Given the description of an element on the screen output the (x, y) to click on. 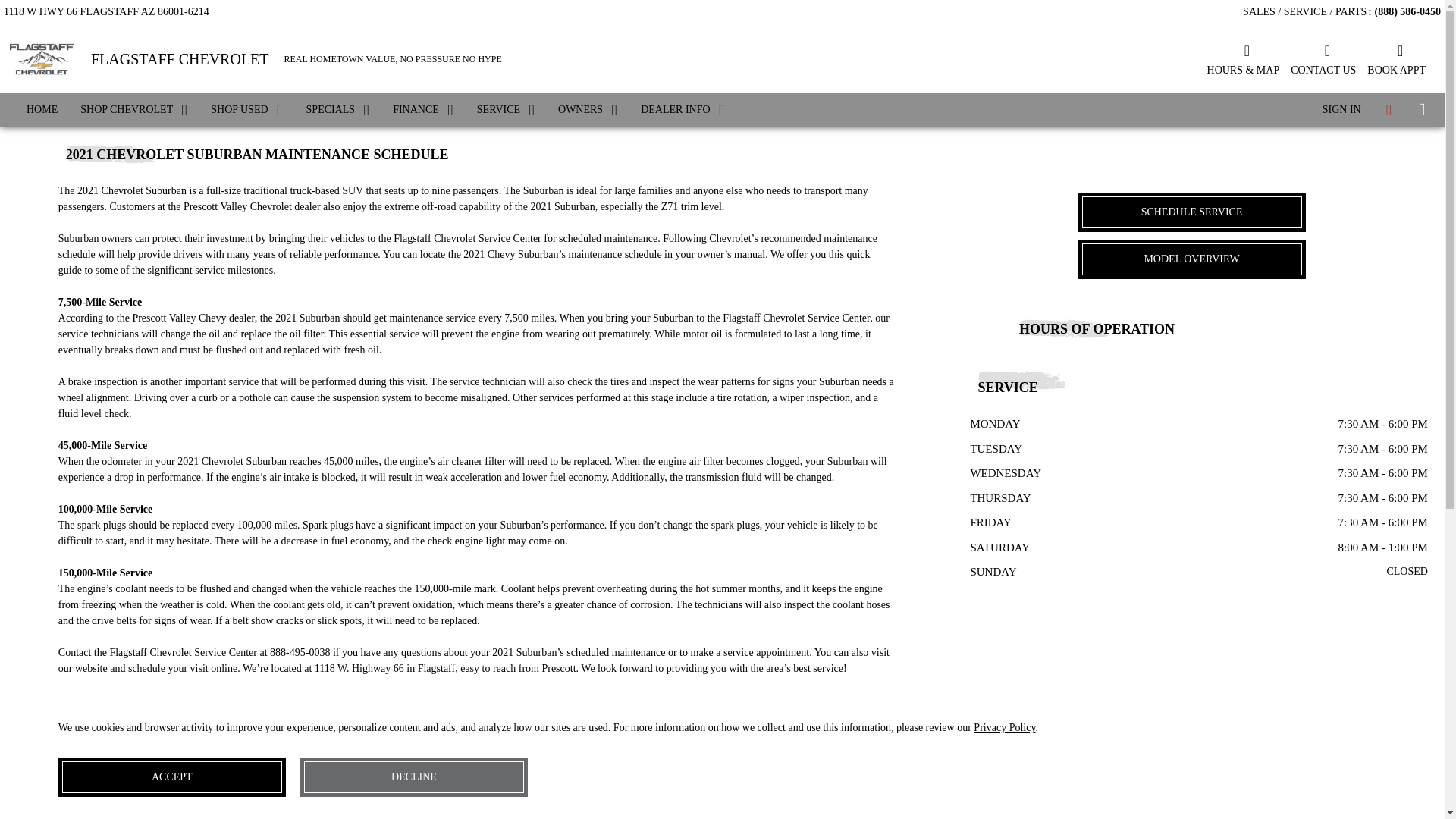
Accept (171, 776)
Privacy Policy (1004, 727)
BOOK APPT (1396, 58)
Decline (413, 776)
HOME (41, 109)
1118 W HWY 66 FLAGSTAFF AZ 86001-6214 (106, 9)
Schedule Service (1192, 211)
Model Overview (1192, 259)
Skip to Main Content (45, 7)
Flagstaff Chevrolet (41, 58)
CONTACT US (1322, 58)
FLAGSTAFF CHEVROLET (179, 58)
REAL HOMETOWN VALUE, NO PRESSURE NO HYPE (392, 58)
